Given the description of an element on the screen output the (x, y) to click on. 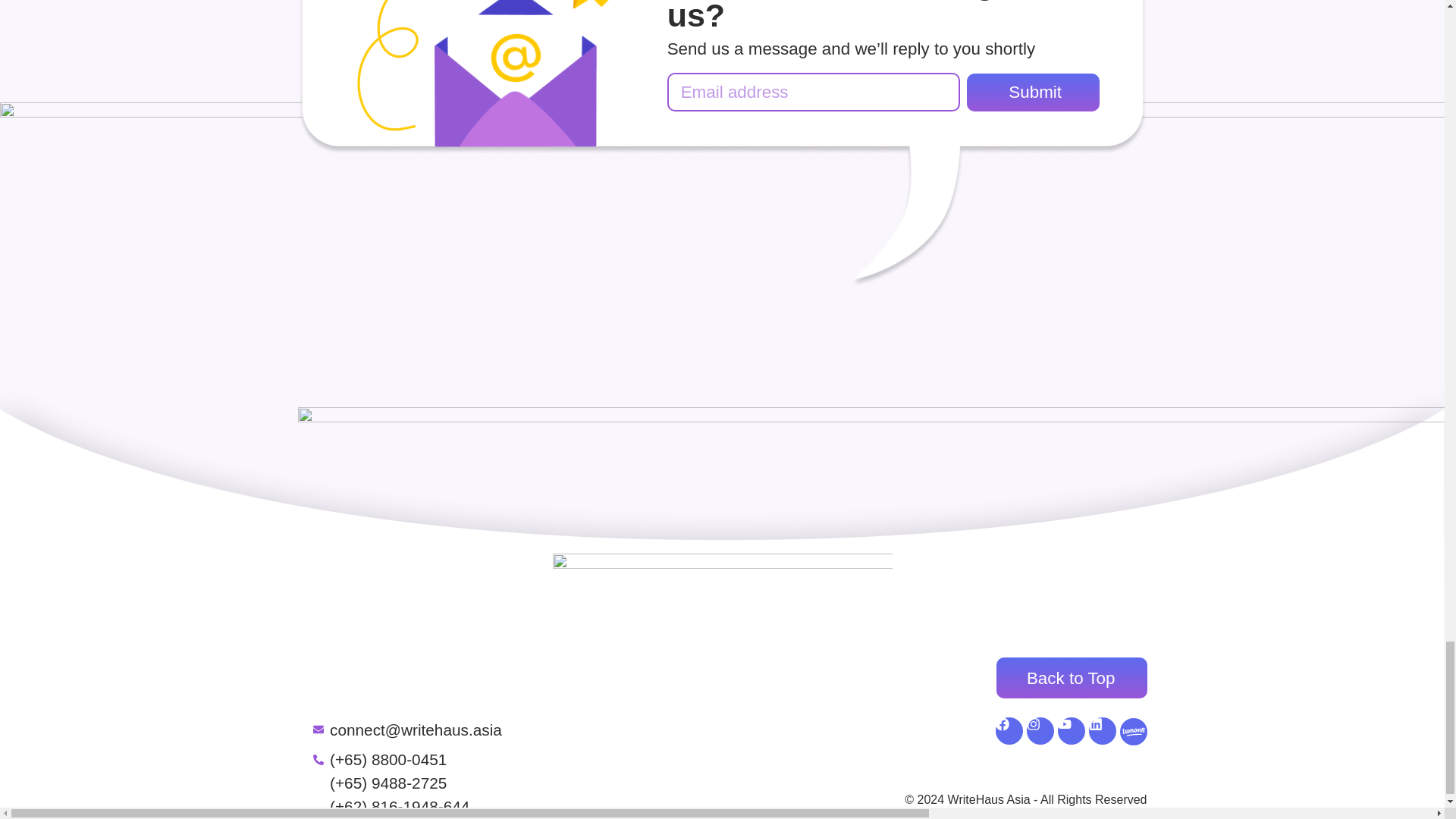
Submit (1032, 92)
Back to Top (1071, 677)
